Given the description of an element on the screen output the (x, y) to click on. 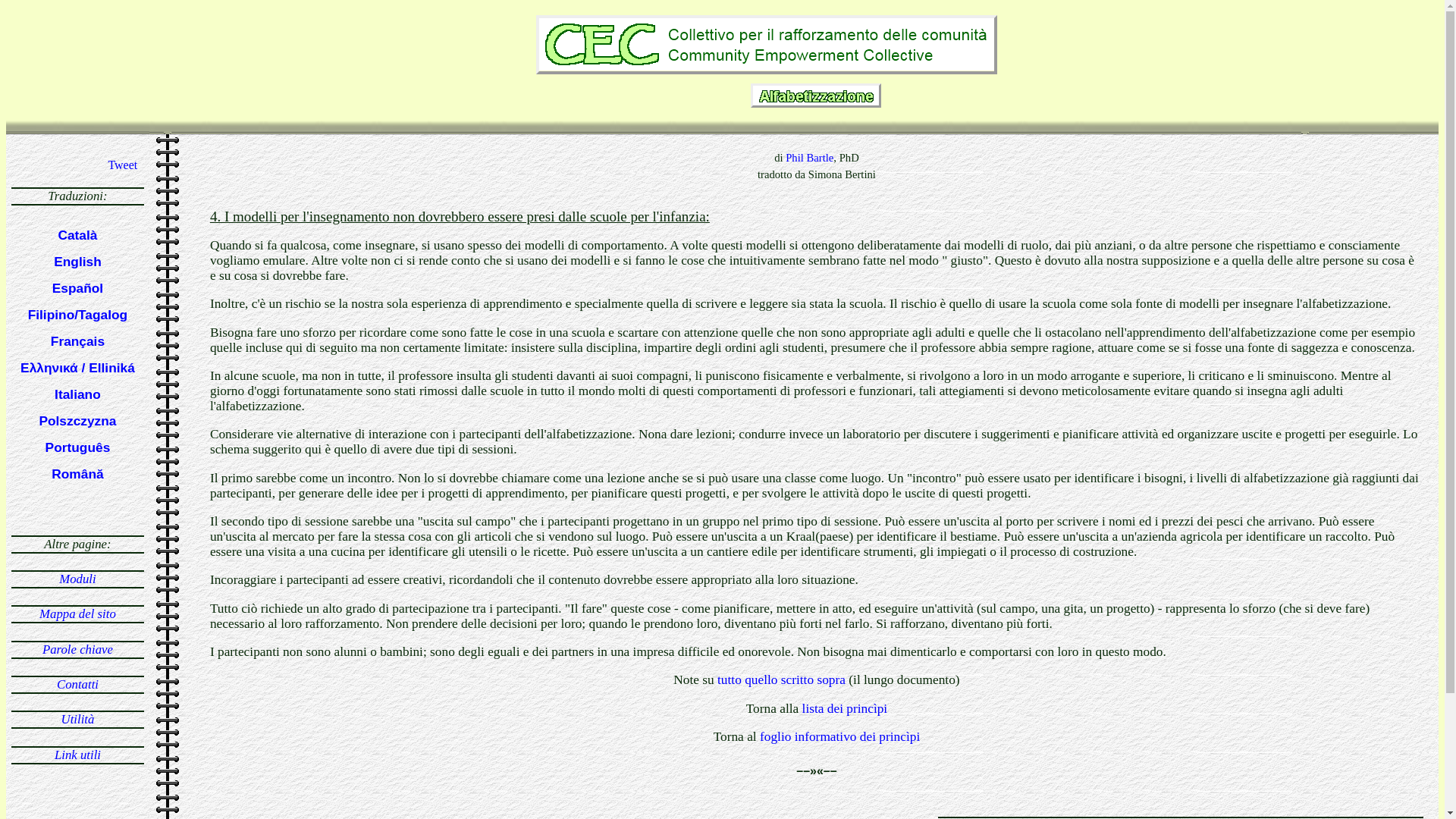
Parole chiave Element type: text (77, 649)
tutto quello scritto sopra Element type: text (782, 679)
Link utili Element type: text (77, 754)
Phil Bartle Element type: text (809, 157)
 Pagina iniziale Element type: text (722, 41)
English Element type: text (77, 261)
Tweet Element type: text (122, 164)
Mappa del sito Element type: text (77, 613)
 Alfabetizzazione Element type: text (722, 93)
Polszczyzna Element type: text (77, 420)
Contatti Element type: text (77, 684)
Moduli Element type: text (77, 578)
Italiano Element type: text (77, 393)
Filipino/Tagalog Element type: text (78, 314)
